Given the description of an element on the screen output the (x, y) to click on. 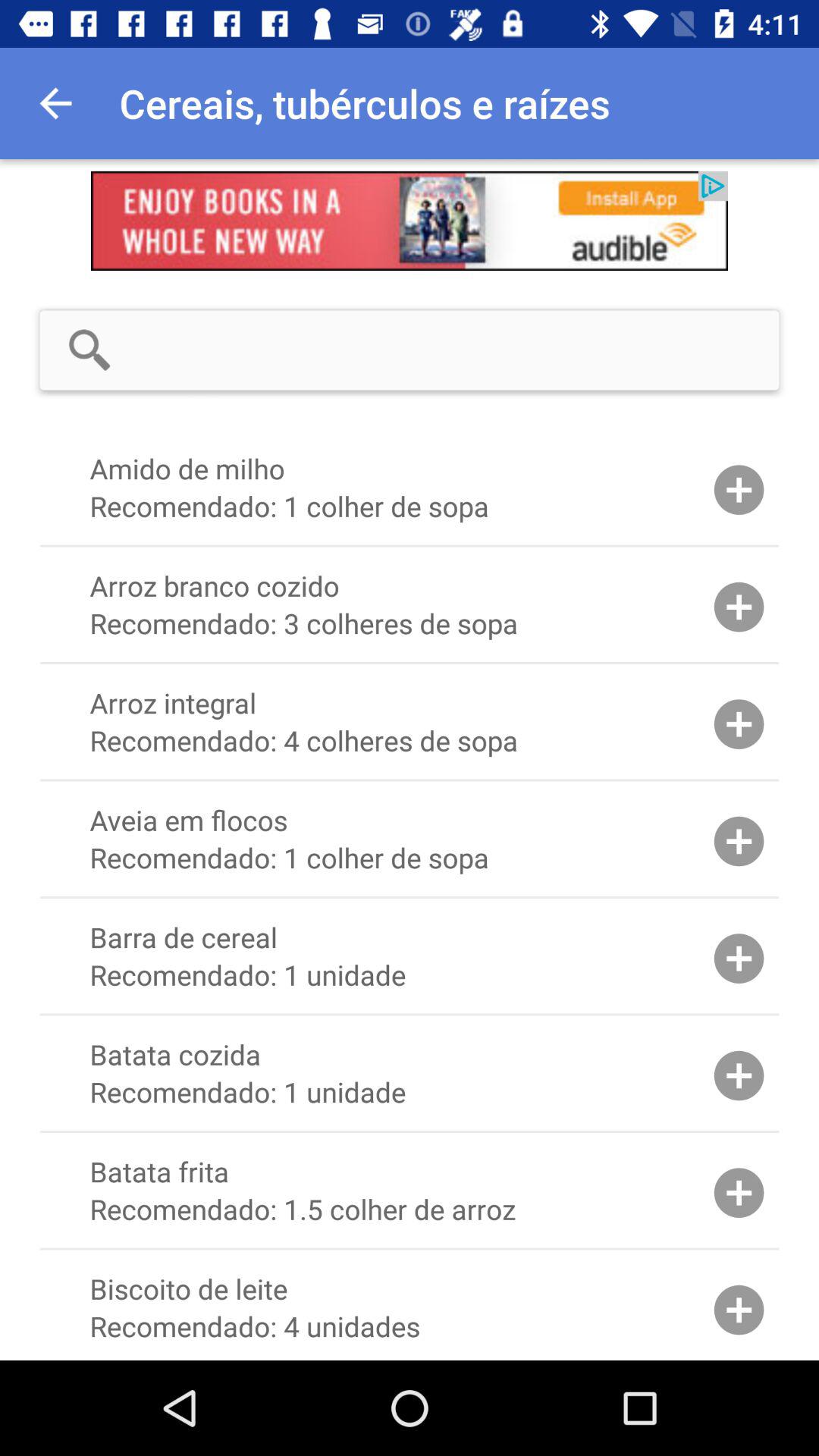
open (409, 220)
